Given the description of an element on the screen output the (x, y) to click on. 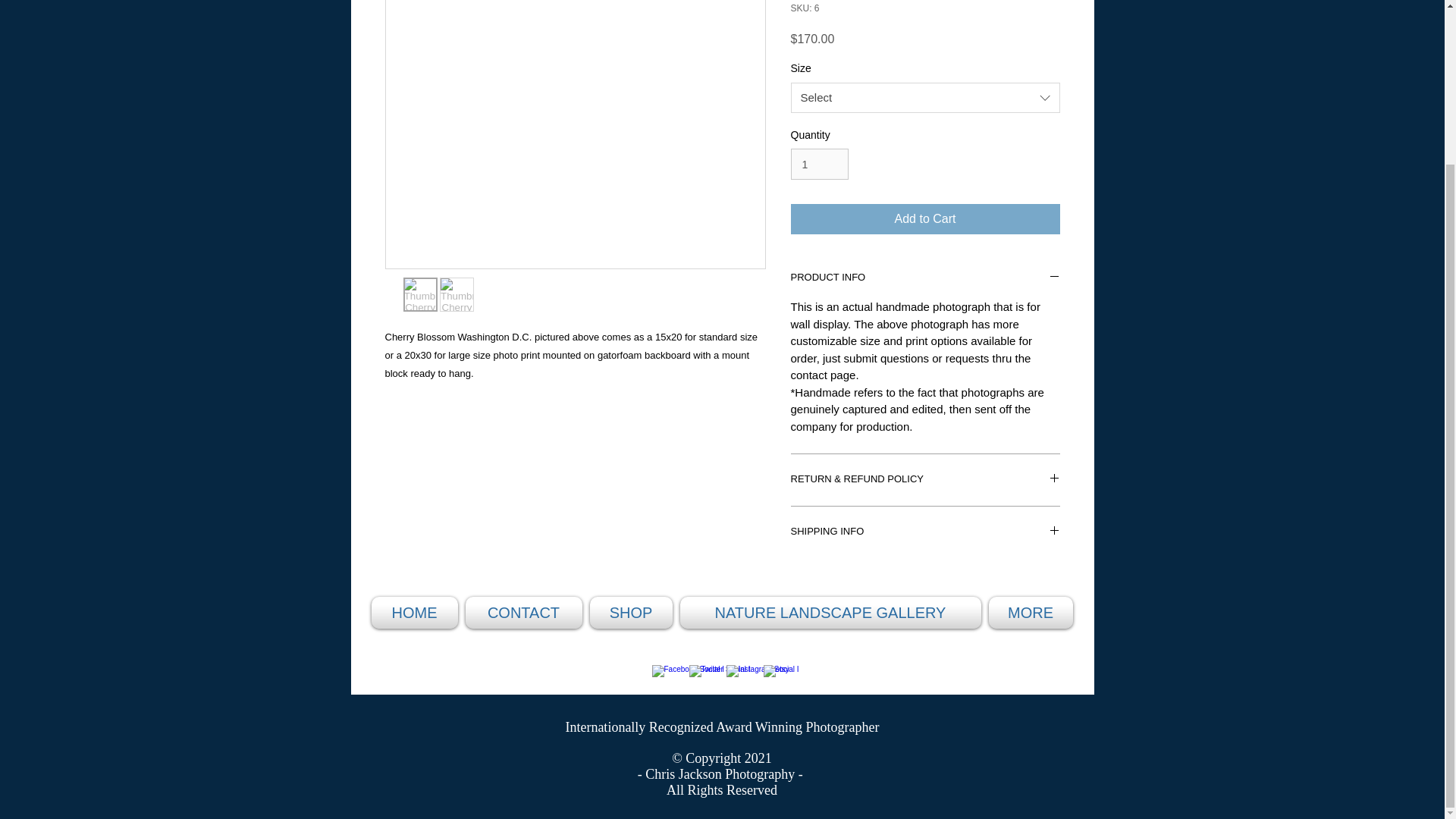
PRODUCT INFO (924, 278)
1 (818, 163)
CONTACT (523, 612)
Select (924, 97)
SHOP (630, 612)
NATURE LANDSCAPE GALLERY (831, 612)
Add to Cart (924, 218)
HOME (416, 612)
SHIPPING INFO (924, 531)
